Given the description of an element on the screen output the (x, y) to click on. 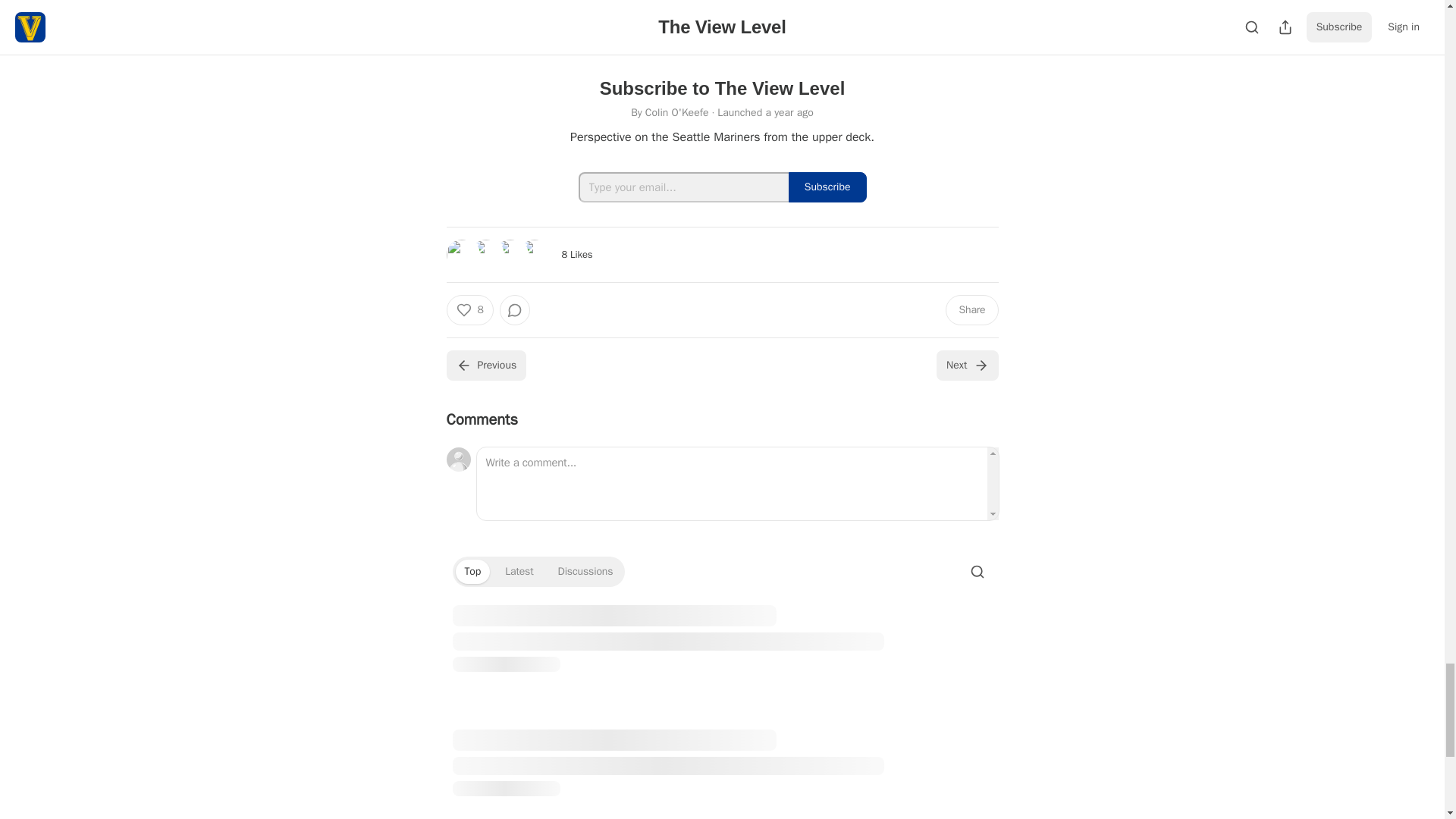
Subscribe (827, 186)
8 (469, 309)
8 Likes (576, 254)
